Given the description of an element on the screen output the (x, y) to click on. 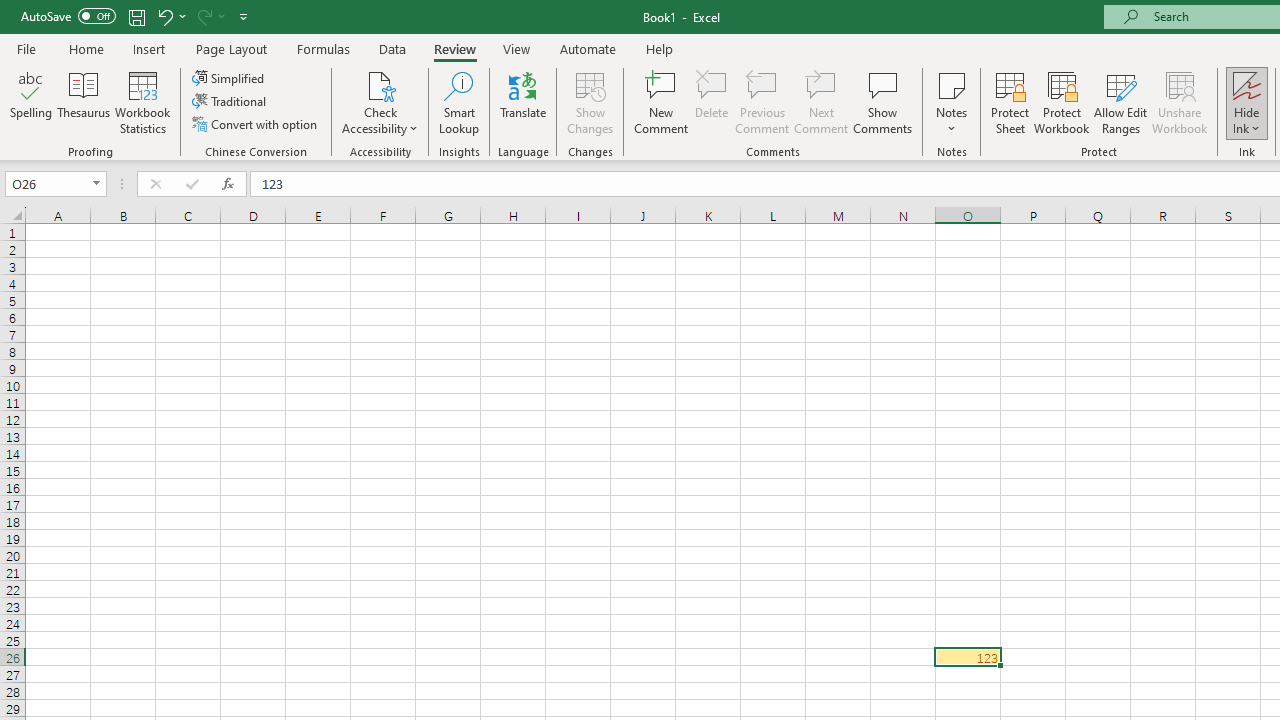
Notes (951, 102)
Smart Lookup (459, 102)
Thesaurus... (83, 102)
Protect Sheet... (1010, 102)
Show Changes (589, 102)
